Given the description of an element on the screen output the (x, y) to click on. 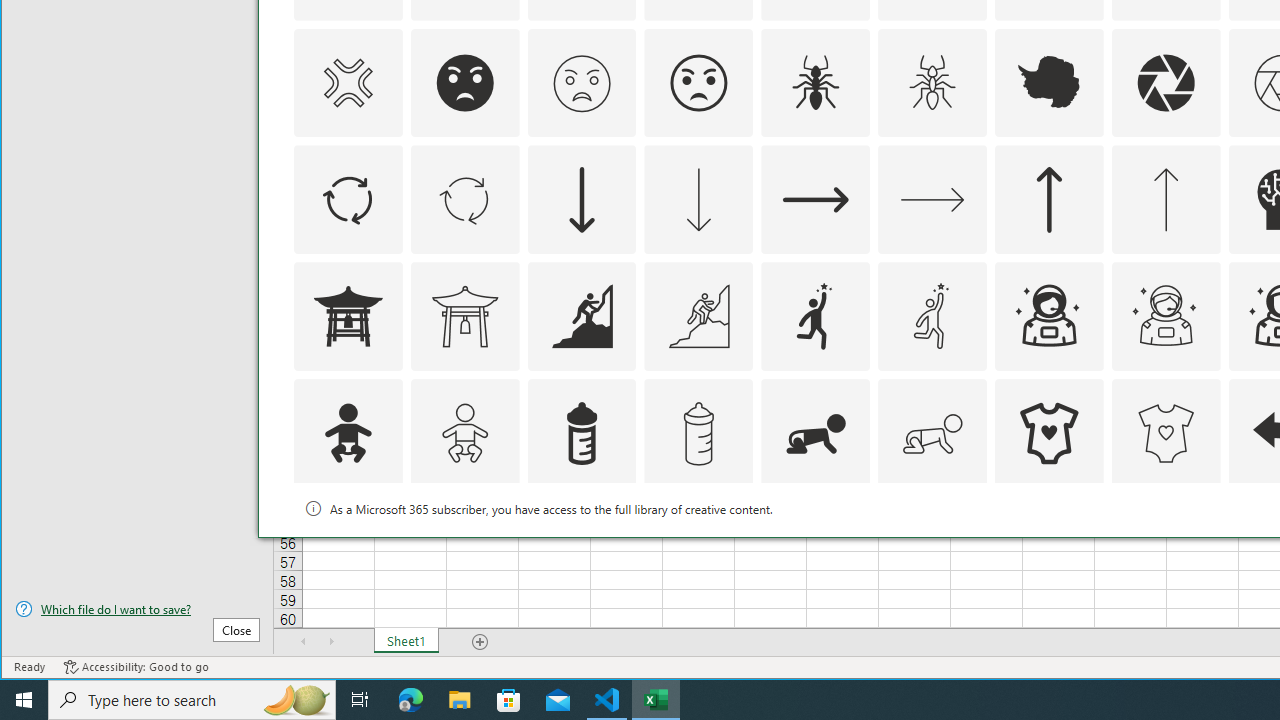
AutomationID: Icons_Baby (348, 434)
AutomationID: Icons_AsianTemple1 (348, 316)
AutomationID: Icons_BabyBottle_M (698, 434)
AutomationID: Icons_Badge2 (464, 550)
AutomationID: Icons_Antarctica (1048, 82)
